Given the description of an element on the screen output the (x, y) to click on. 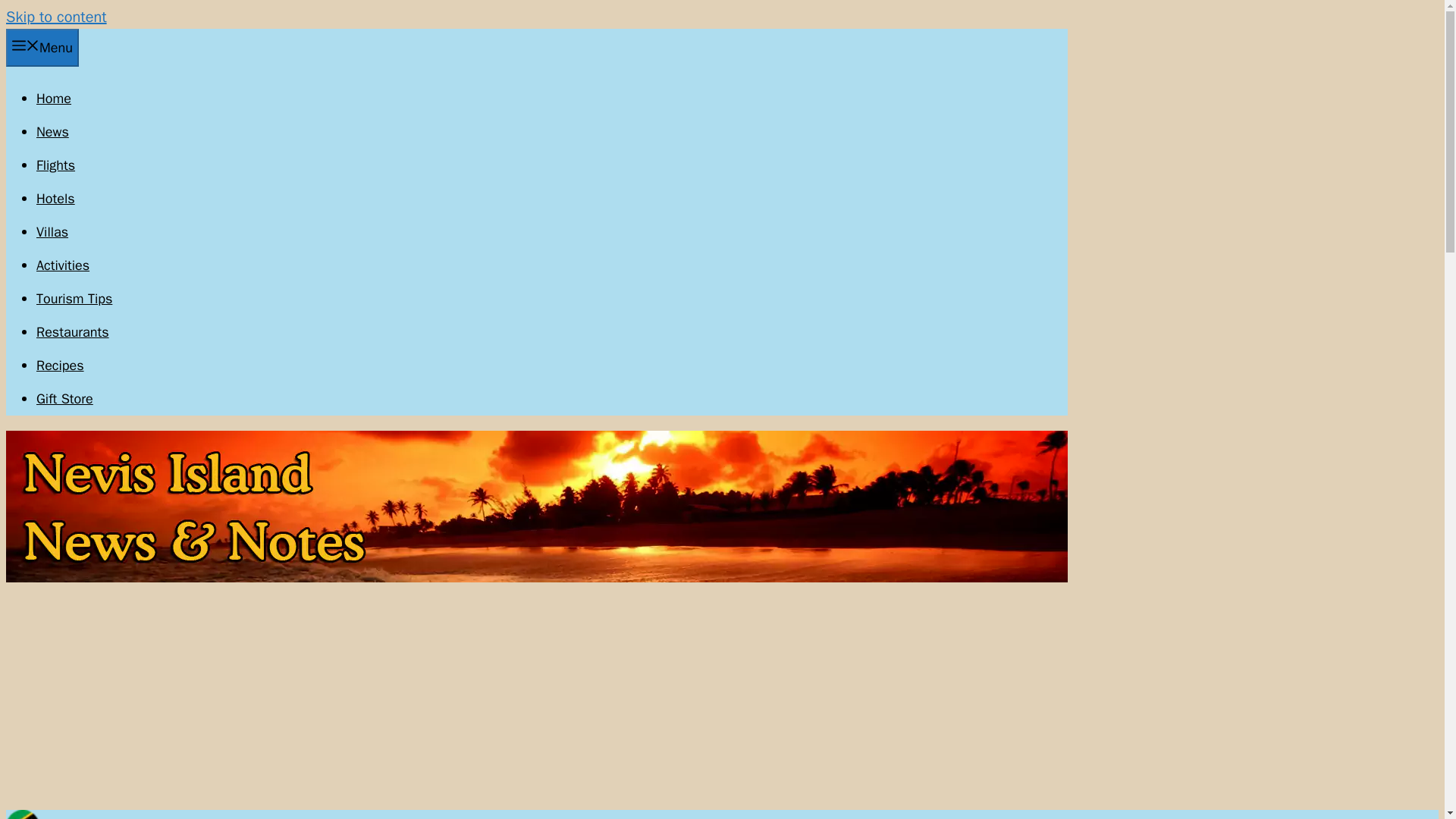
Recipes (60, 365)
Nevis Flight Information (55, 165)
Skip to content (55, 16)
Restaurants (72, 331)
Gift Store (64, 398)
Nevis Restaurants (72, 331)
Nevis and Caribbean Recipes (60, 365)
Hotels (55, 198)
Skip to content (55, 16)
Menu (41, 47)
Tourism Tips (74, 298)
Nevis Activities and Events Calendar (62, 265)
Nevis Villa Rentals (52, 231)
Villas (52, 231)
